Given the description of an element on the screen output the (x, y) to click on. 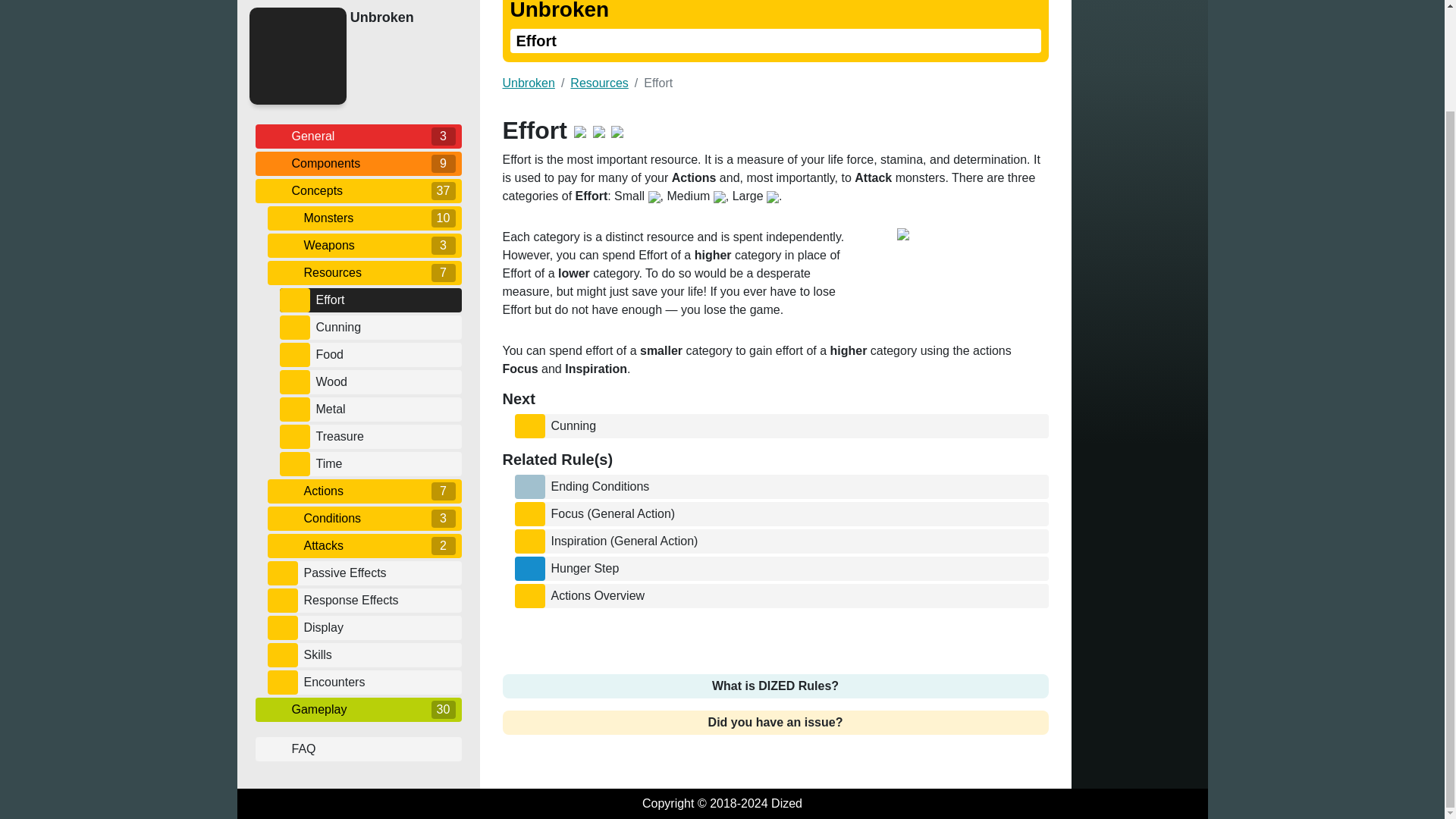
Cunning (384, 326)
General (357, 136)
Monsters (363, 218)
Wood (384, 381)
Unbroken (401, 17)
Weapons (363, 245)
Effort (384, 299)
Concepts (357, 190)
Resources (363, 272)
Food (384, 353)
Metal (384, 408)
Components (357, 163)
